Given the description of an element on the screen output the (x, y) to click on. 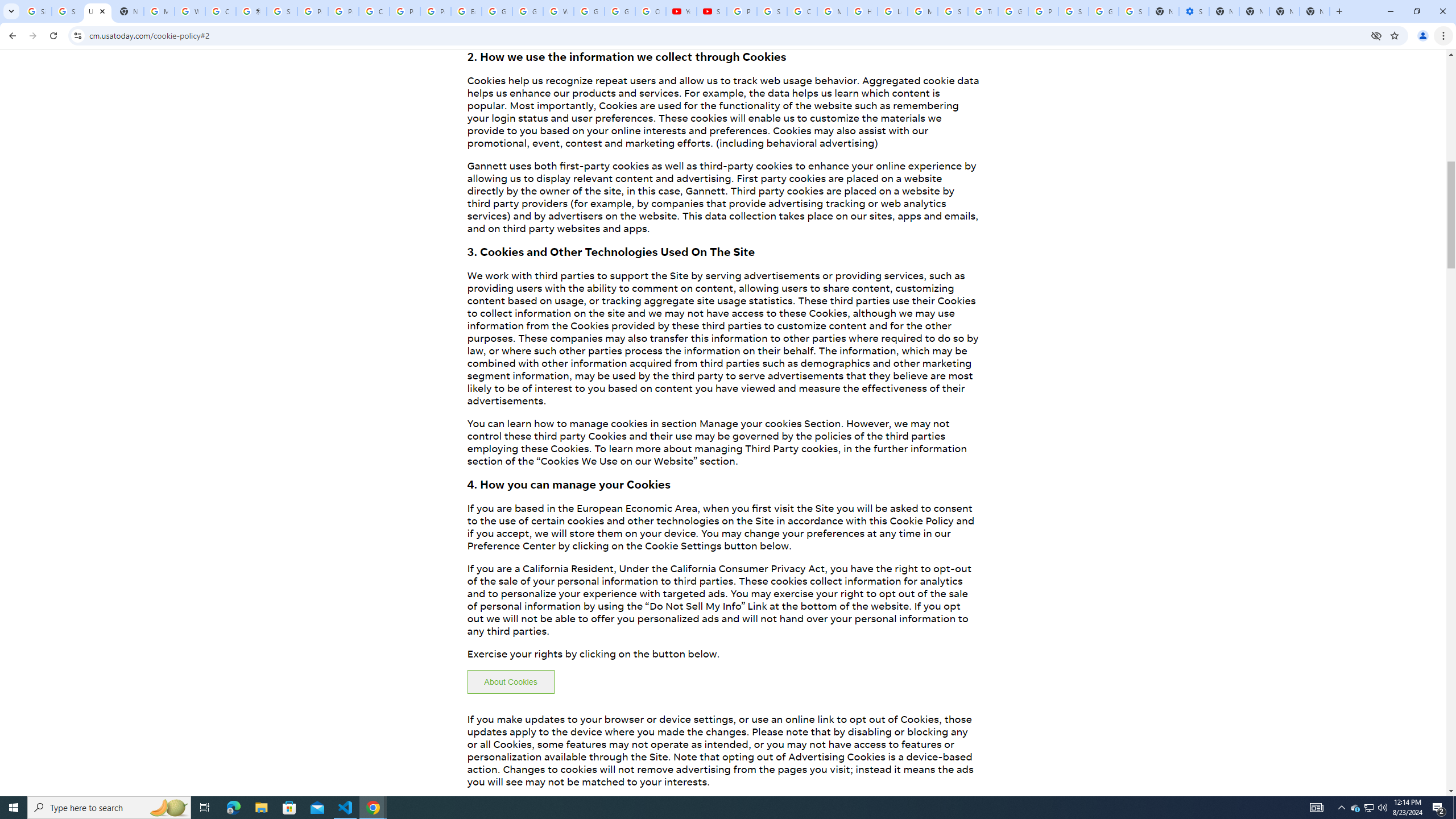
Settings - Performance (1193, 11)
Sign in - Google Accounts (66, 11)
Subscriptions - YouTube (711, 11)
Sign in - Google Accounts (282, 11)
Google Slides: Sign-in (496, 11)
